Given the description of an element on the screen output the (x, y) to click on. 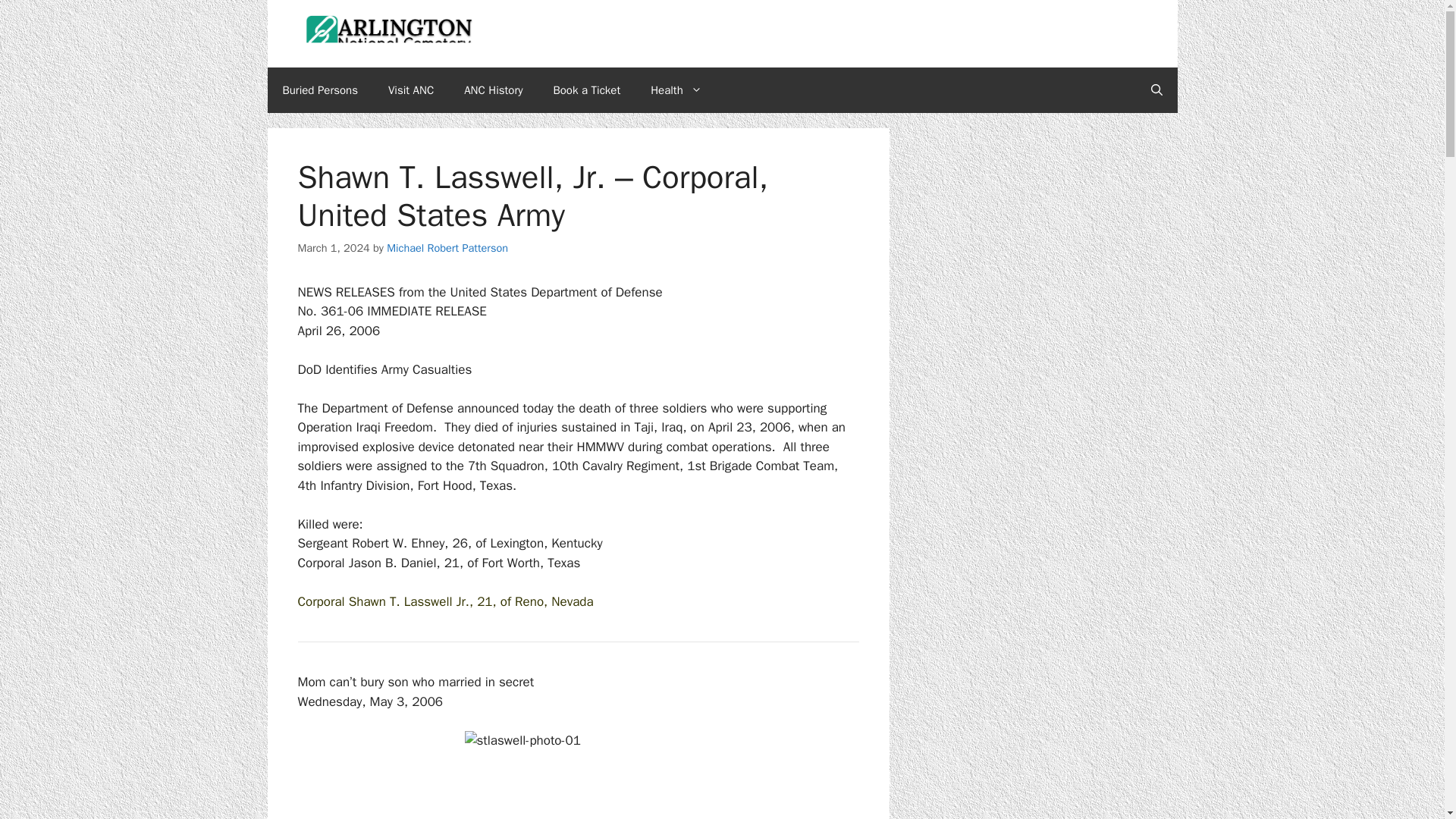
Book a Ticket (587, 90)
ANC History (492, 90)
Buried Persons (319, 90)
Buried Persons (319, 90)
View all posts by Michael Robert Patterson (447, 247)
Health (675, 90)
Visit ANC (410, 90)
